Given the description of an element on the screen output the (x, y) to click on. 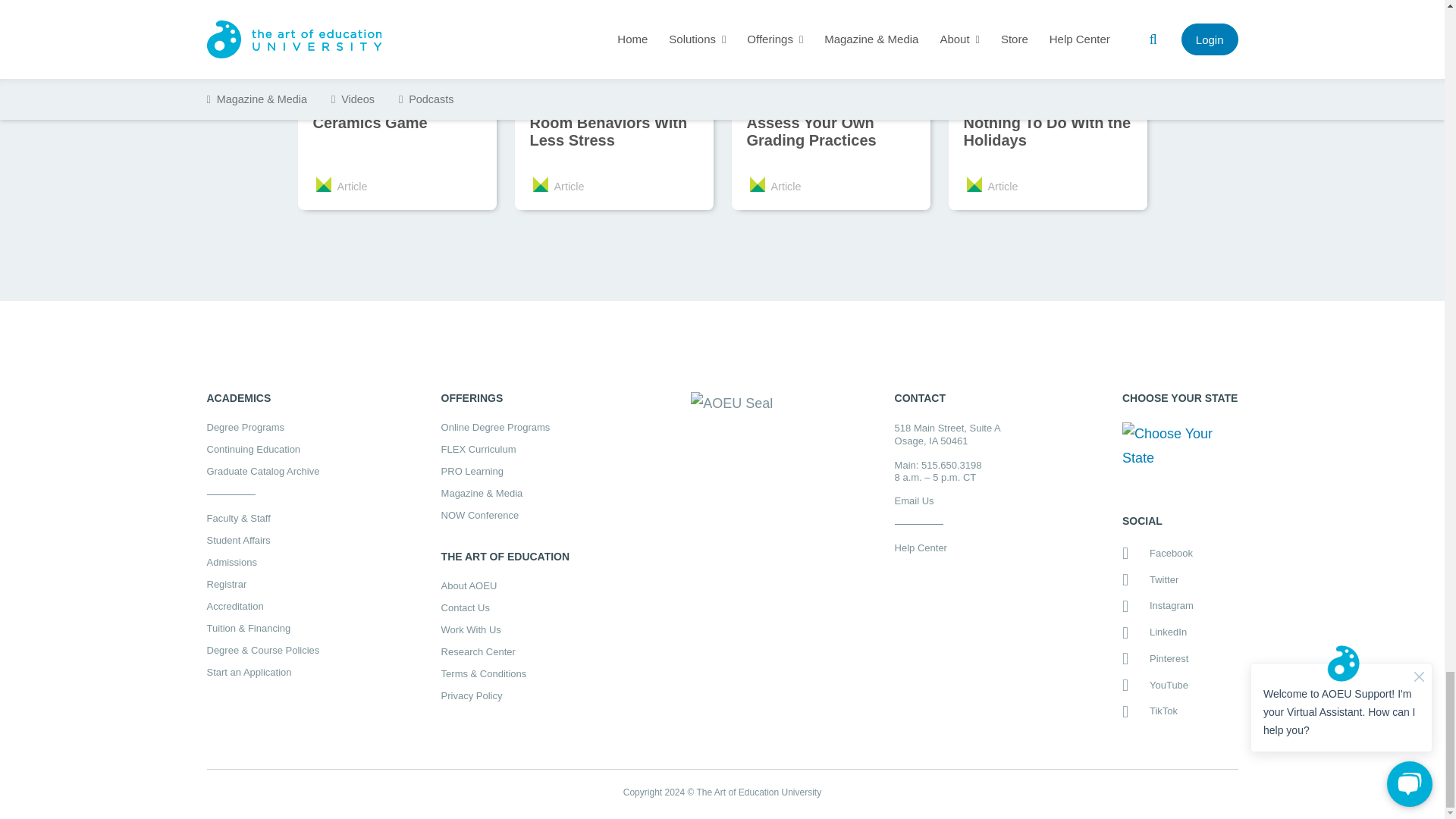
Student Affairs (262, 540)
Admissions (262, 562)
Continuing Education (262, 449)
Degree Programs (262, 427)
Graduate Catalog Archive (262, 470)
